Given the description of an element on the screen output the (x, y) to click on. 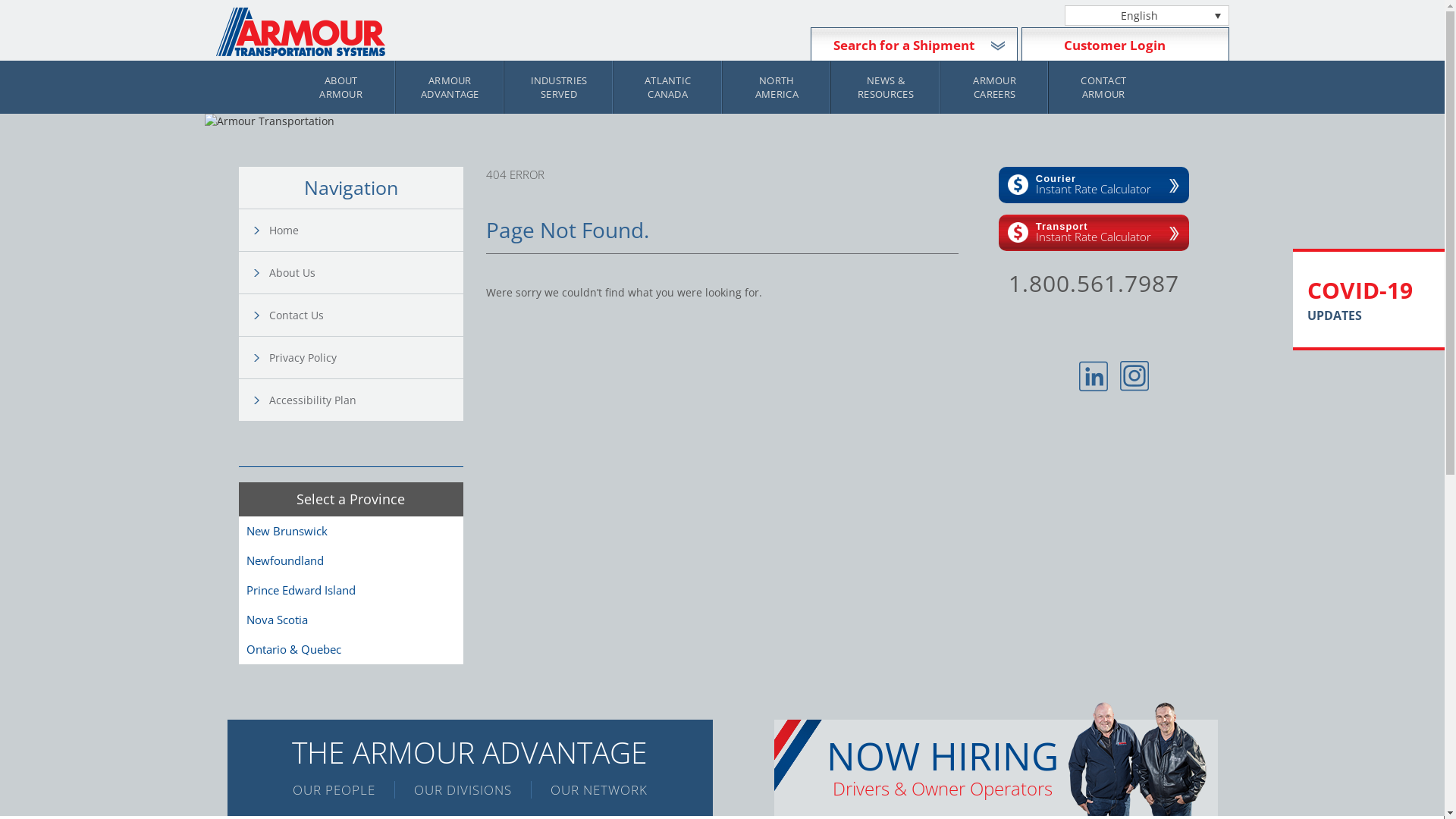
OUR DIVISIONS Element type: text (462, 789)
COVID-19
UPDATES Element type: text (1371, 299)
Customer Login Element type: text (1114, 44)
NORTH
AMERICA Element type: text (776, 86)
Newfoundland Element type: text (284, 559)
Privacy Policy Element type: text (358, 357)
Accessibility Plan Element type: text (358, 399)
NEWS &
RESOURCES Element type: text (885, 86)
New Brunswick Element type: text (285, 530)
INDUSTRIES
SERVED Element type: text (558, 86)
ATLANTIC
CANADA Element type: text (667, 86)
Home Element type: text (358, 230)
NOW HIRING
Drivers & Owner Operators Element type: text (995, 767)
Ontario & Quebec Element type: text (292, 648)
Contact Us Element type: text (358, 314)
OUR NETWORK Element type: text (588, 789)
ARMOUR
ADVANTAGE Element type: text (450, 86)
Transport
Instant Rate Calculator Element type: text (1093, 232)
OUR PEOPLE Element type: text (343, 789)
About Us Element type: text (358, 272)
English Element type: text (1146, 15)
ARMOUR
CAREERS Element type: text (994, 86)
Prince Edward Island Element type: text (299, 589)
ABOUT
ARMOUR Element type: text (340, 86)
CONTACT
ARMOUR Element type: text (1102, 86)
Nova Scotia Element type: text (276, 619)
Courier
Instant Rate Calculator Element type: text (1093, 184)
